Given the description of an element on the screen output the (x, y) to click on. 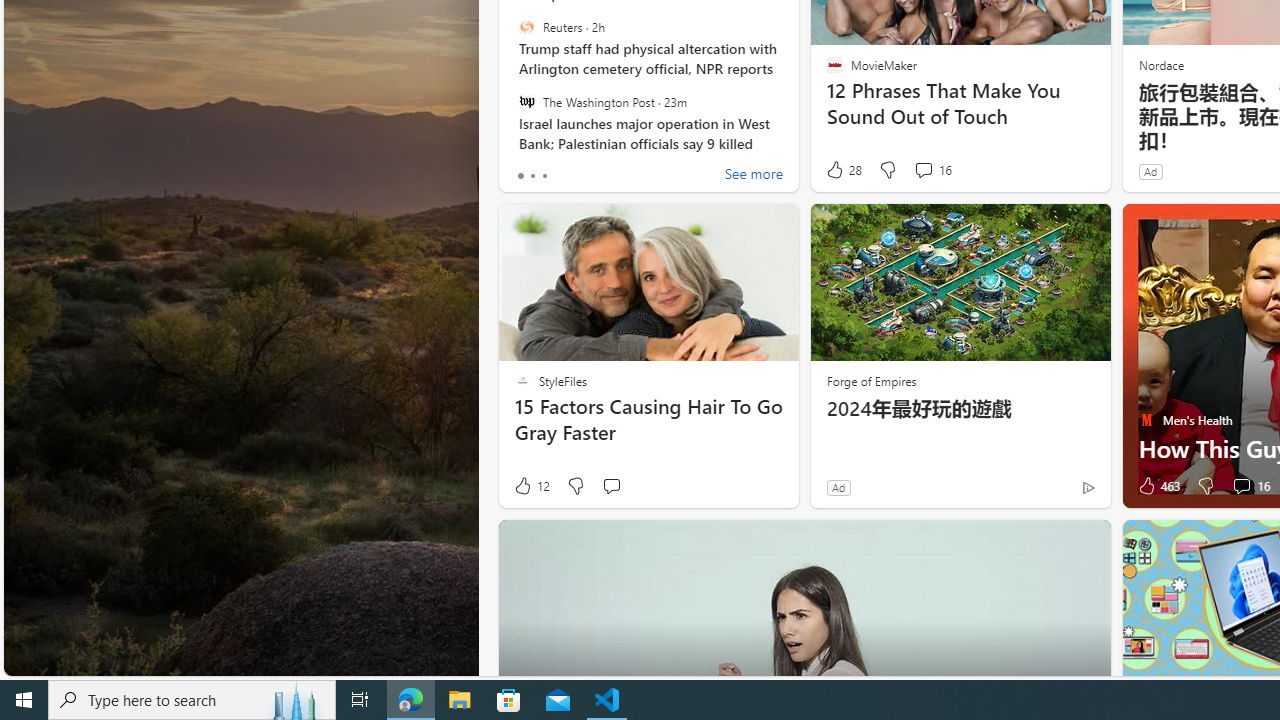
View comments 16 Comment (1249, 485)
Ad (838, 487)
Forge of Empires (870, 380)
28 Like (843, 170)
Dislike (1204, 485)
Start the conversation (611, 485)
tab-2 (543, 175)
Nordace (1160, 64)
463 Like (1157, 485)
12 Like (531, 485)
Ad Choice (1087, 487)
View comments 16 Comment (1241, 485)
